Given the description of an element on the screen output the (x, y) to click on. 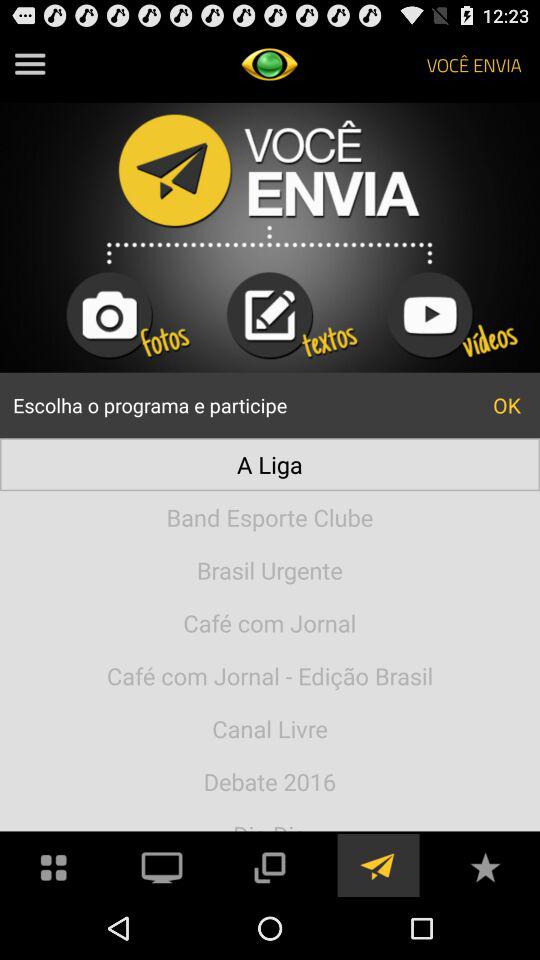
open in new screen (269, 865)
